Given the description of an element on the screen output the (x, y) to click on. 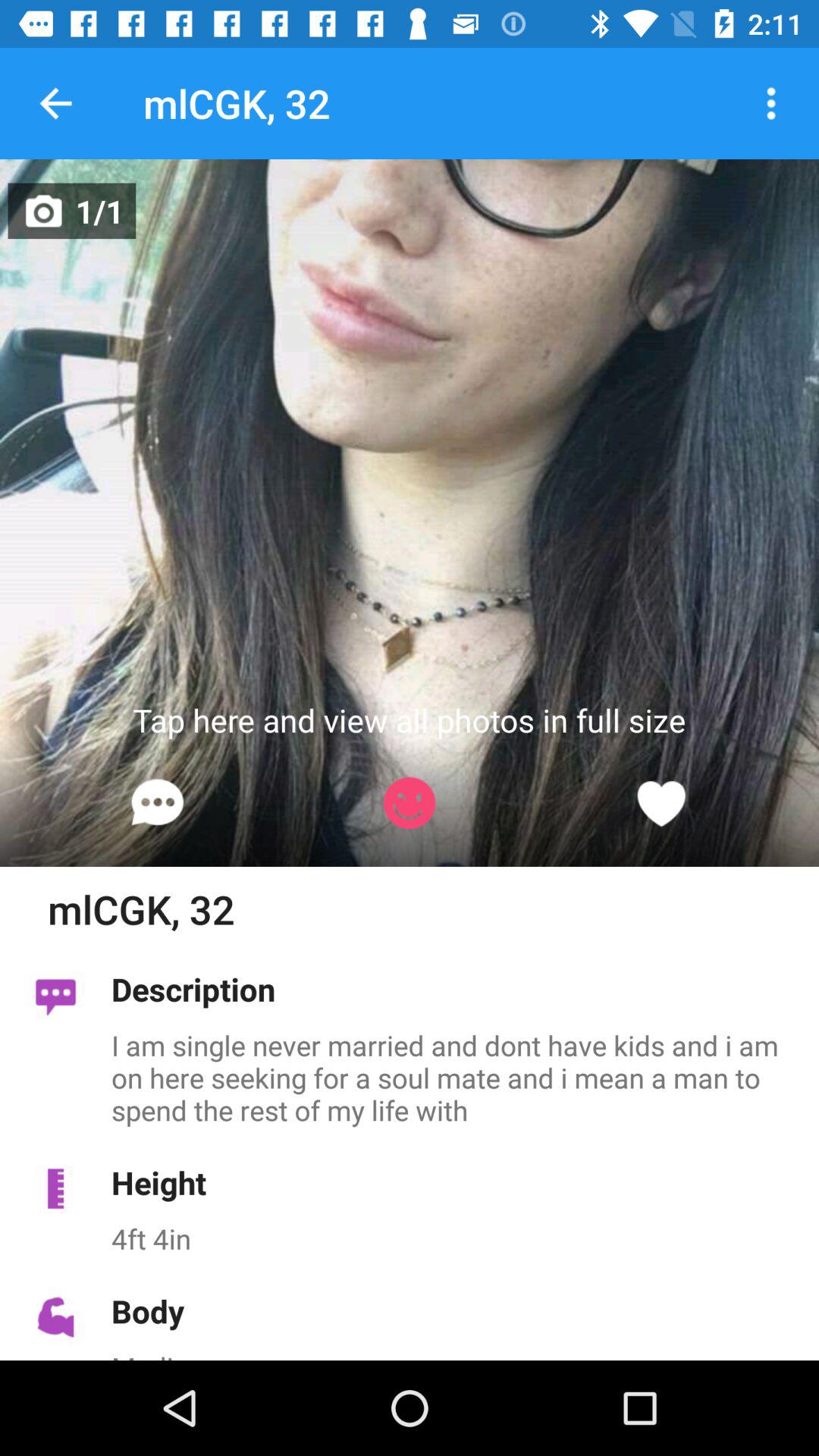
jump to the i am single icon (457, 1077)
